Given the description of an element on the screen output the (x, y) to click on. 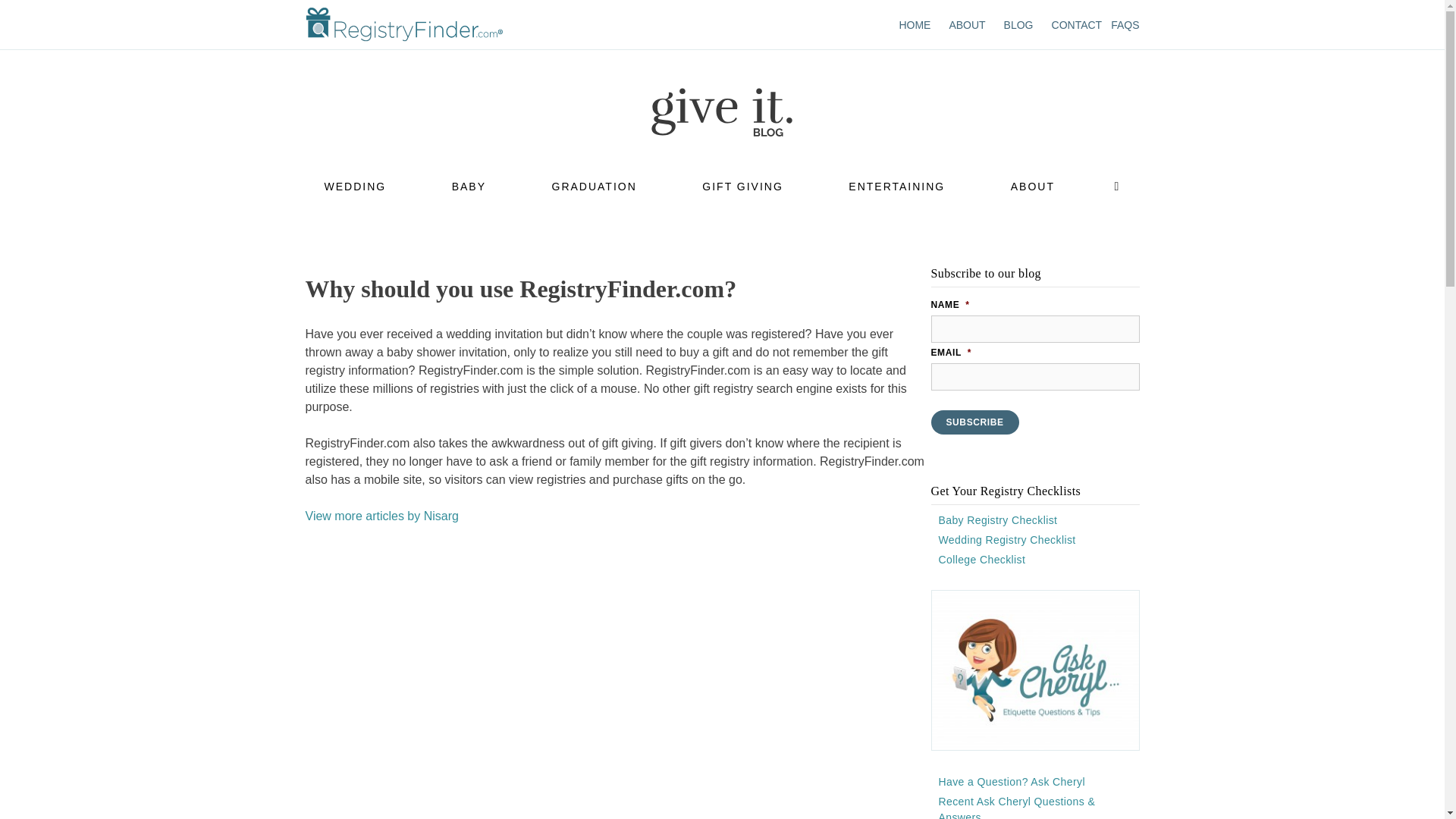
CONTACT (1076, 24)
Subscribe (975, 422)
HOME (914, 24)
BLOG (1018, 24)
ABOUT (967, 24)
Go (789, 157)
FAQS (1124, 24)
